Given the description of an element on the screen output the (x, y) to click on. 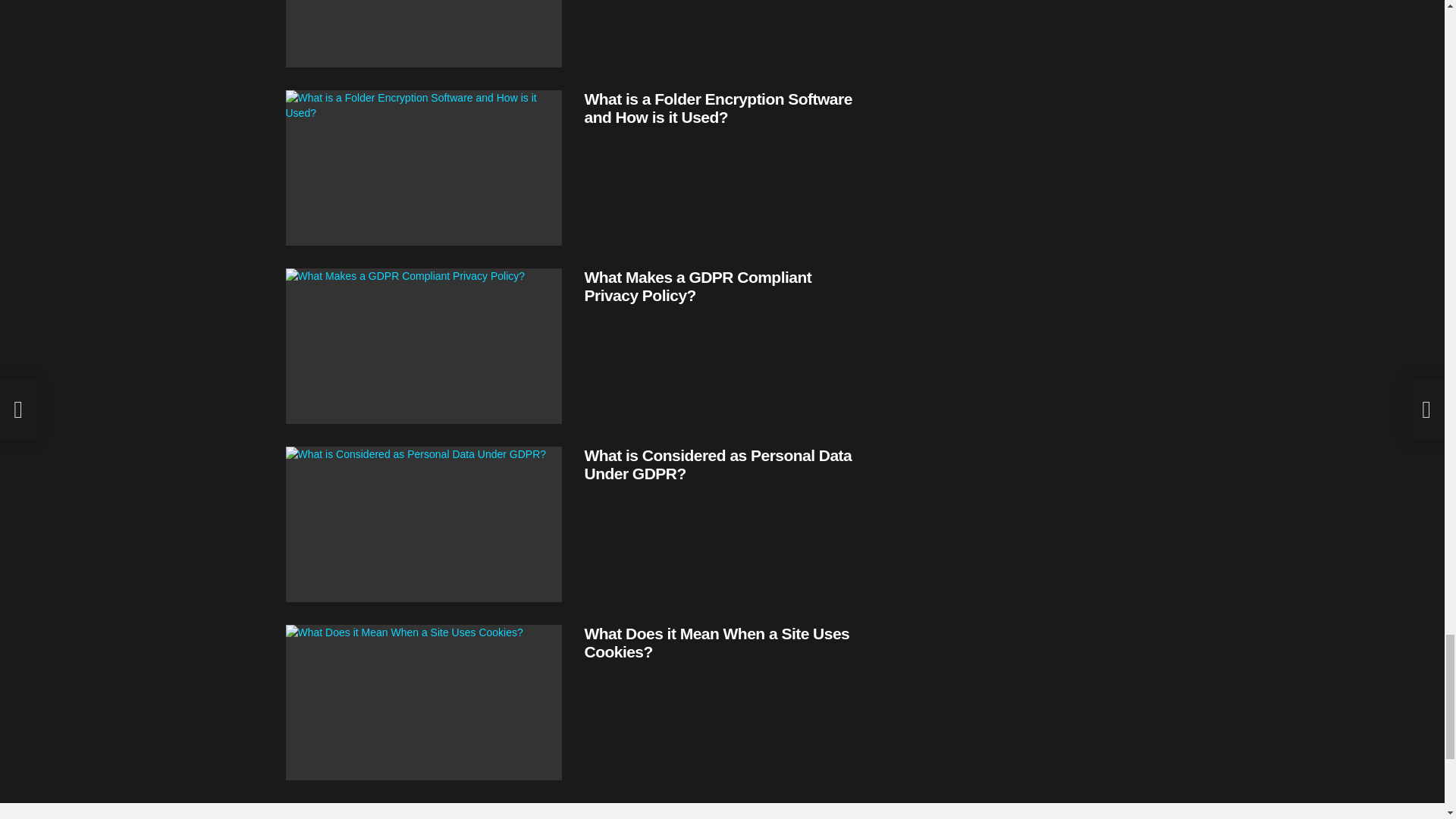
What is Considered as Personal Data Under GDPR? (422, 523)
GDPR Fines and Penalties Violators Should Know (422, 33)
What is Considered as Personal Data Under GDPR? (717, 464)
What is a Folder Encryption Software and How is it Used? (422, 167)
What is a Folder Encryption Software and How is it Used? (717, 108)
What Makes a GDPR Compliant Privacy Policy? (696, 285)
What Does it Mean When a Site Uses Cookies? (422, 702)
What Does it Mean When a Site Uses Cookies? (715, 642)
What Makes a GDPR Compliant Privacy Policy? (422, 346)
